Given the description of an element on the screen output the (x, y) to click on. 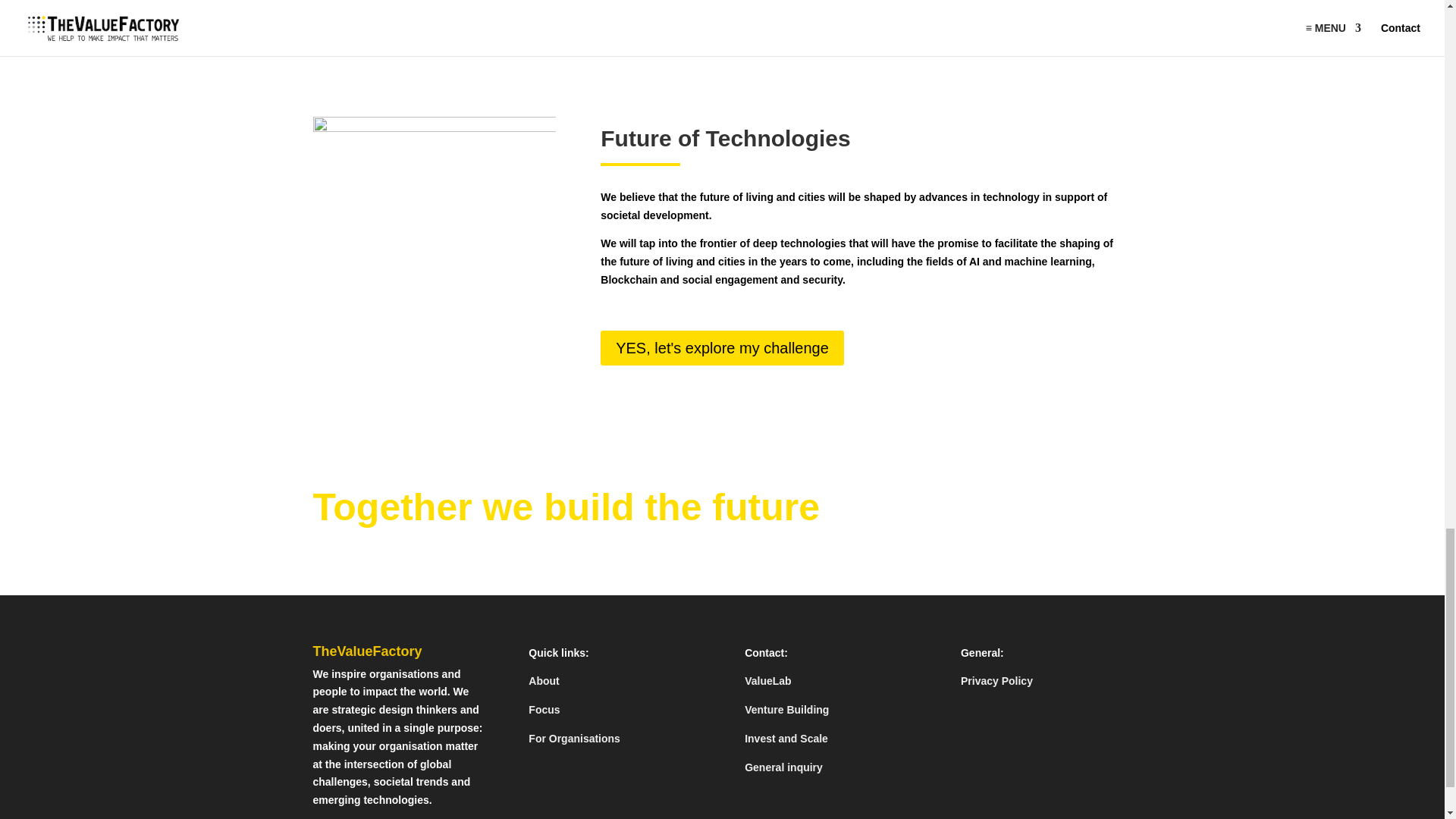
YES, let's explore my challenge (721, 347)
General inquiry (783, 767)
For Organisations (574, 738)
About (543, 680)
Privacy Policy (996, 680)
Venture Building (786, 709)
Invest and Scale (786, 738)
alex-knight-2EJCSULRwC8-unsplash (433, 198)
ValueLab (767, 680)
Focus (543, 709)
